Given the description of an element on the screen output the (x, y) to click on. 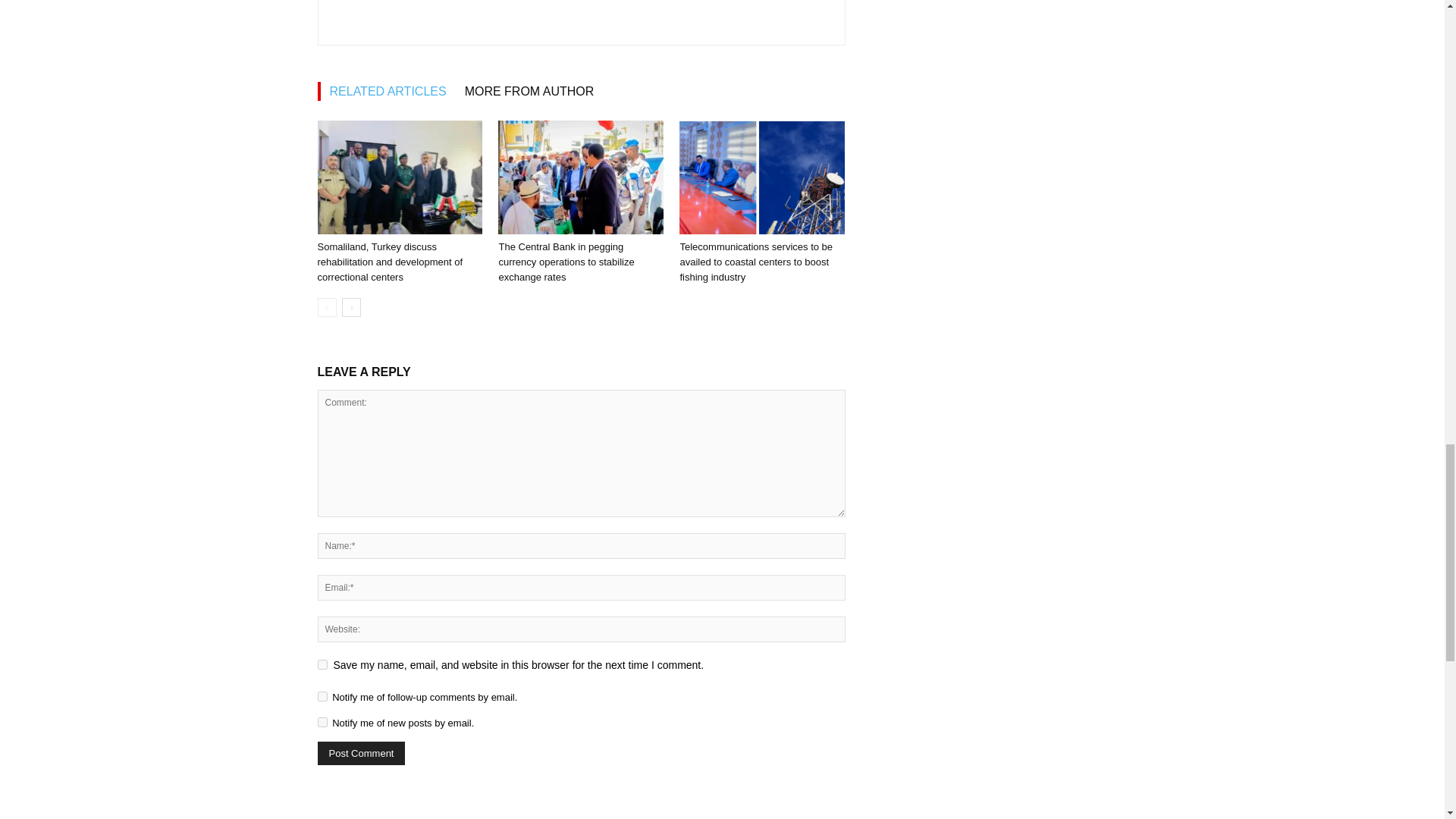
yes (321, 664)
subscribe (321, 696)
Post Comment (360, 753)
subscribe (321, 722)
